Given the description of an element on the screen output the (x, y) to click on. 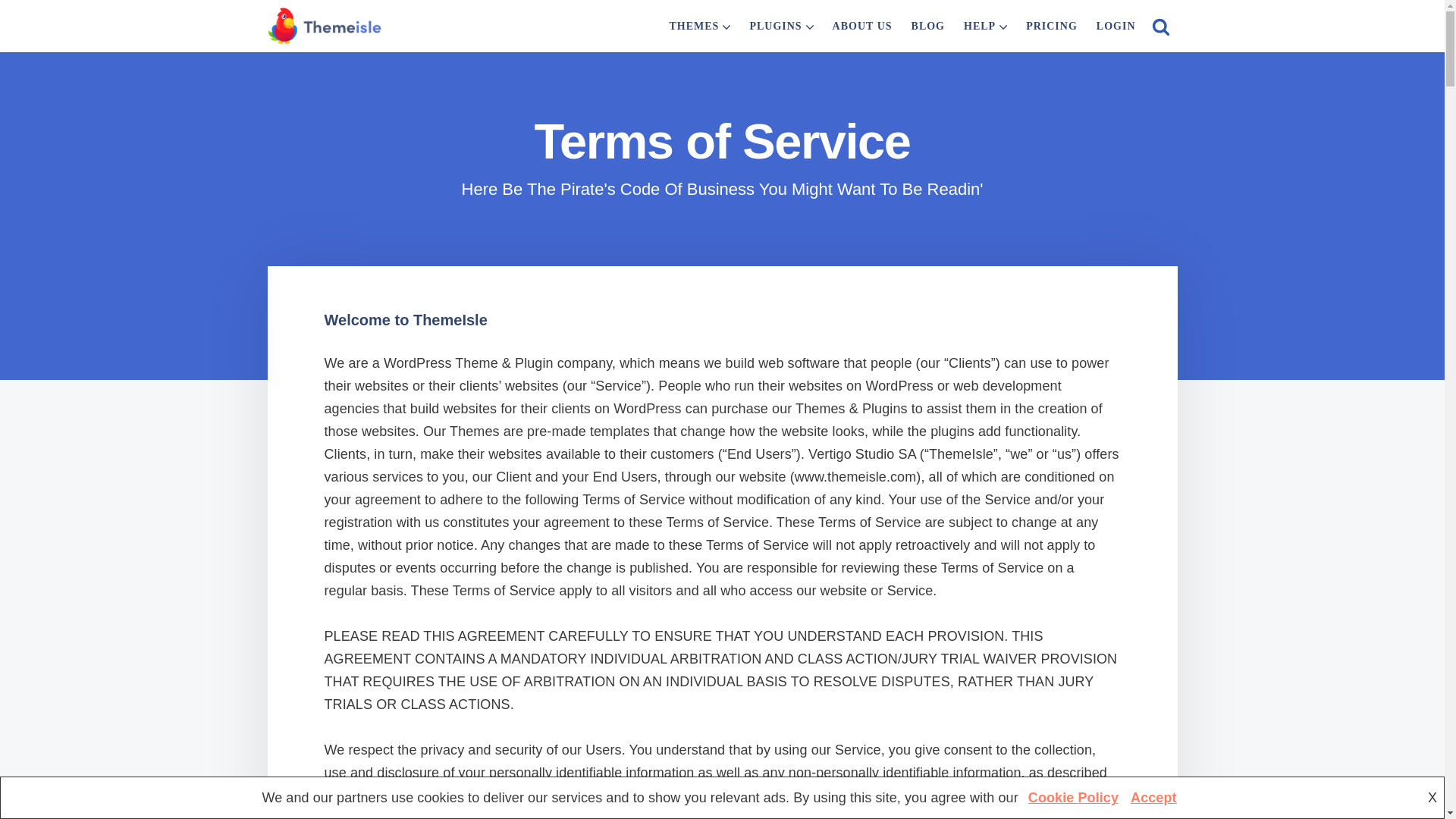
BLOG (927, 26)
HELP (979, 26)
PRICING (1051, 26)
PLUGINS (775, 26)
Skip to content (11, 31)
LOGIN (1115, 26)
ABOUT US (862, 26)
THEMES (693, 26)
